Given the description of an element on the screen output the (x, y) to click on. 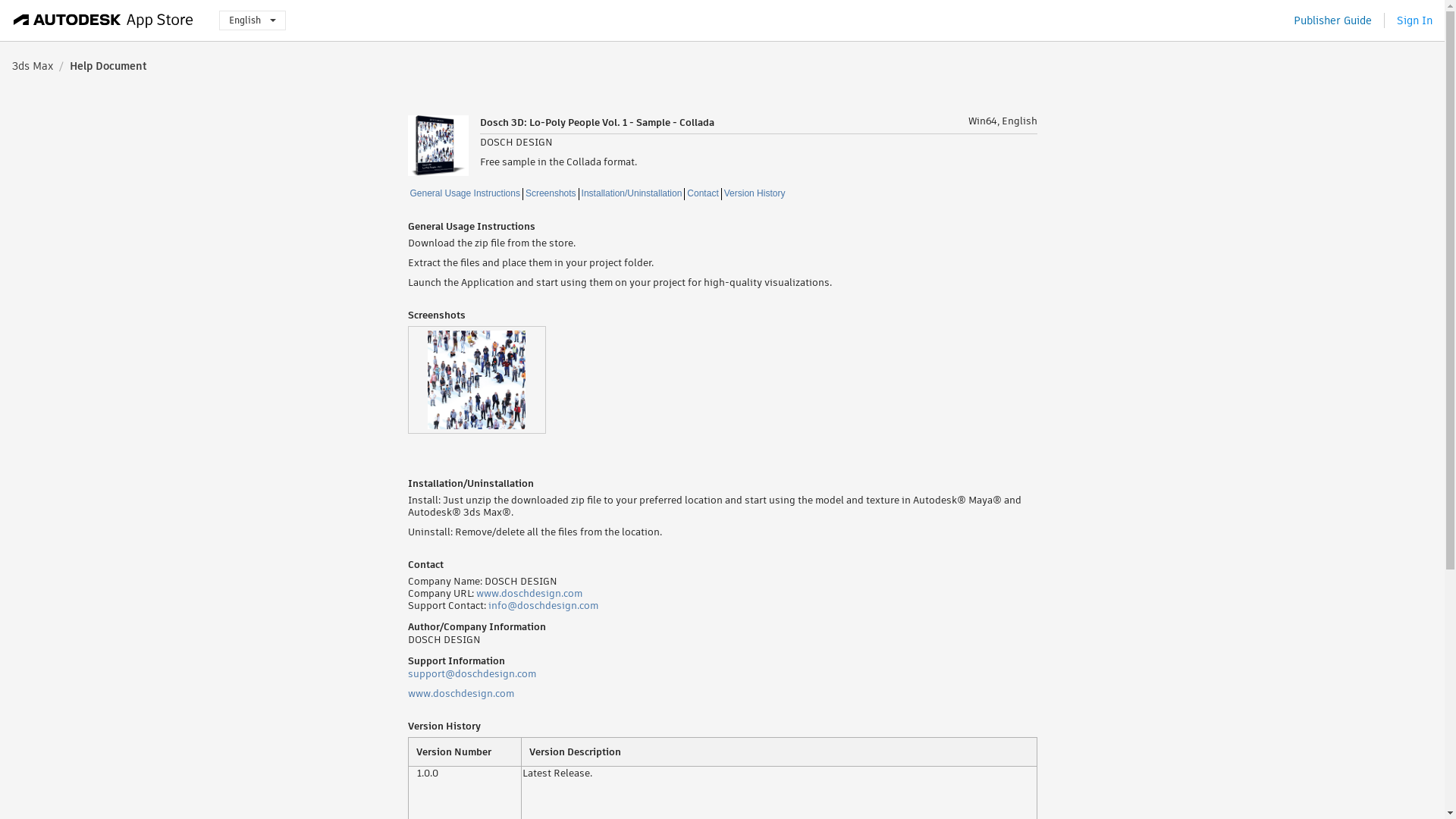
Contact (702, 193)
Screenshots (550, 193)
Autodesk App Store (103, 20)
General Usage Instructions (464, 193)
Publisher Guide (1332, 20)
English (252, 20)
Version History (754, 193)
www.doschdesign.com (529, 593)
3ds Max (31, 65)
www.doschdesign.com (460, 693)
Sign In (1414, 20)
